Given the description of an element on the screen output the (x, y) to click on. 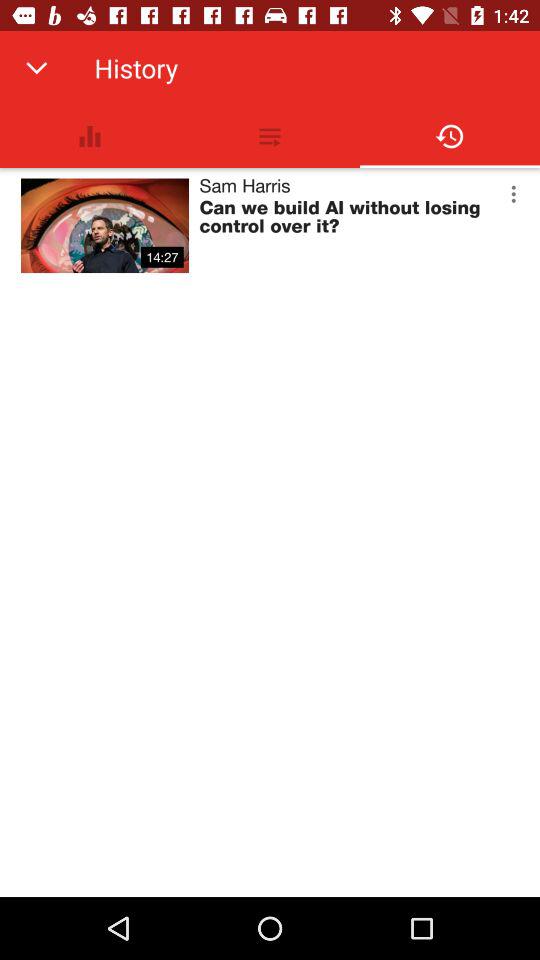
tap item to the left of history app (36, 68)
